Given the description of an element on the screen output the (x, y) to click on. 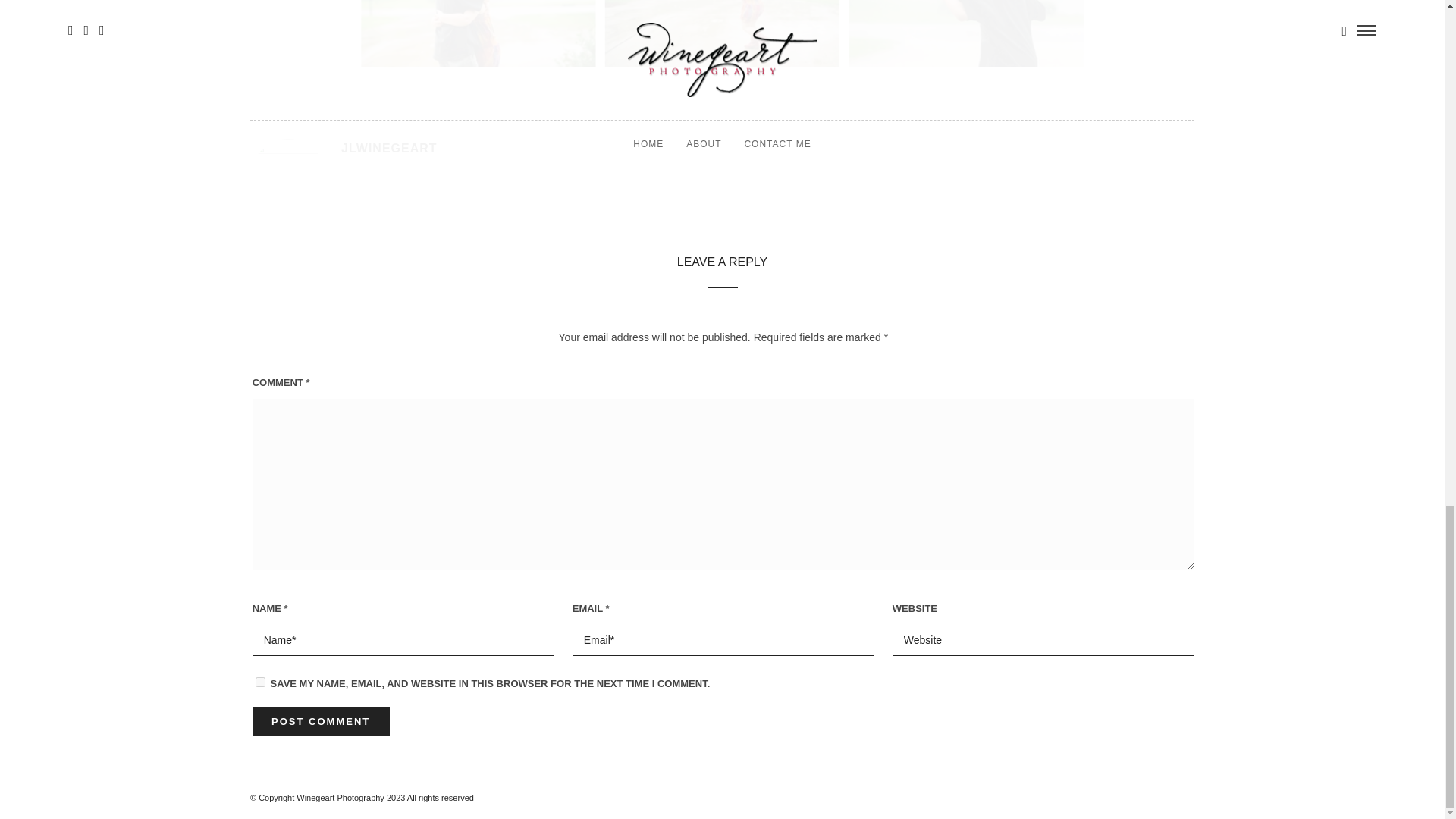
Post Comment (320, 720)
yes (260, 682)
Post Comment (320, 720)
